Given the description of an element on the screen output the (x, y) to click on. 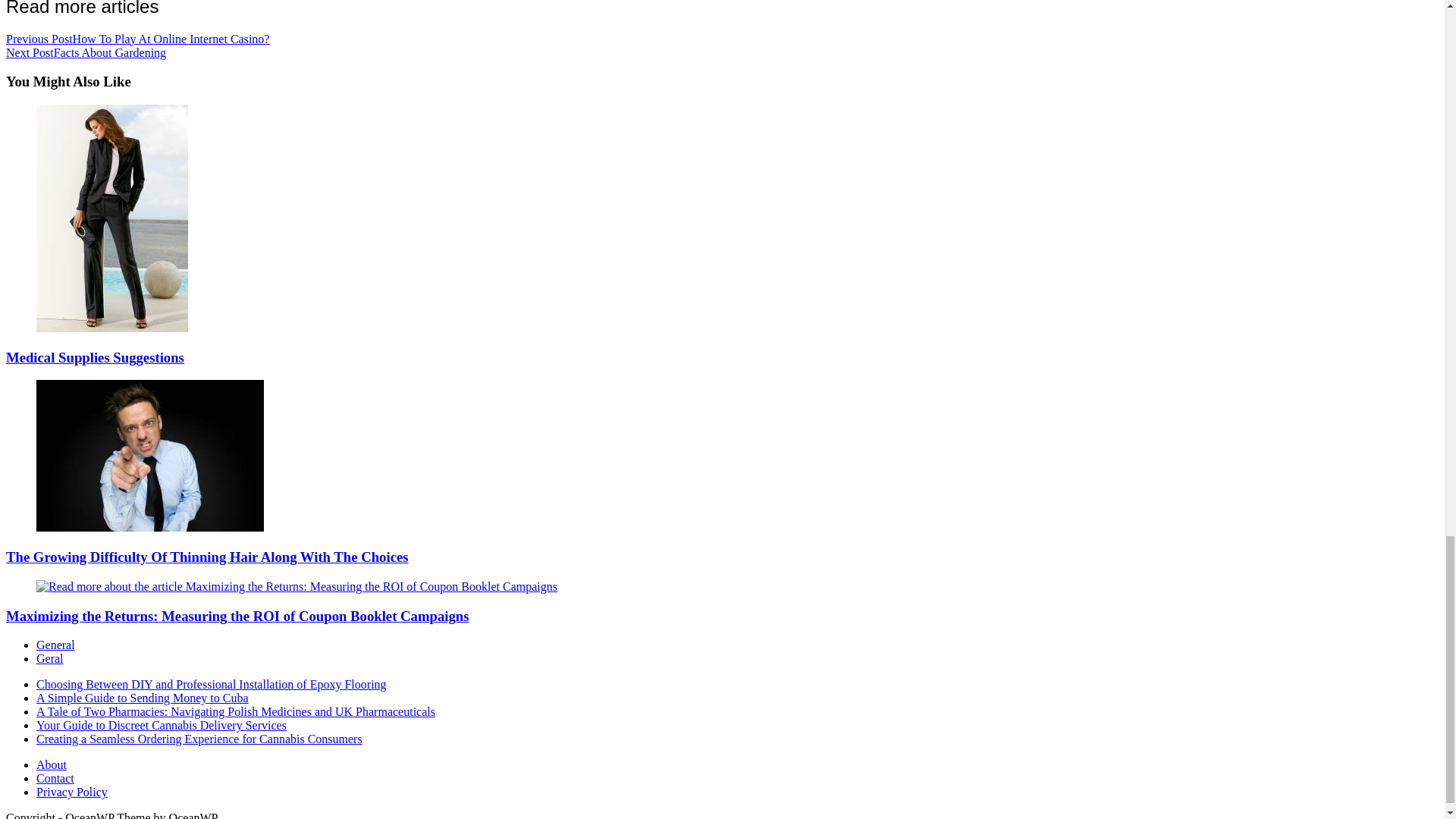
Contact (55, 778)
General (55, 644)
Next PostFacts About Gardening (85, 51)
A Simple Guide to Sending Money to Cuba (142, 697)
Medical Supplies Suggestions (94, 357)
About (51, 764)
Previous PostHow To Play At Online Internet Casino? (137, 38)
